Given the description of an element on the screen output the (x, y) to click on. 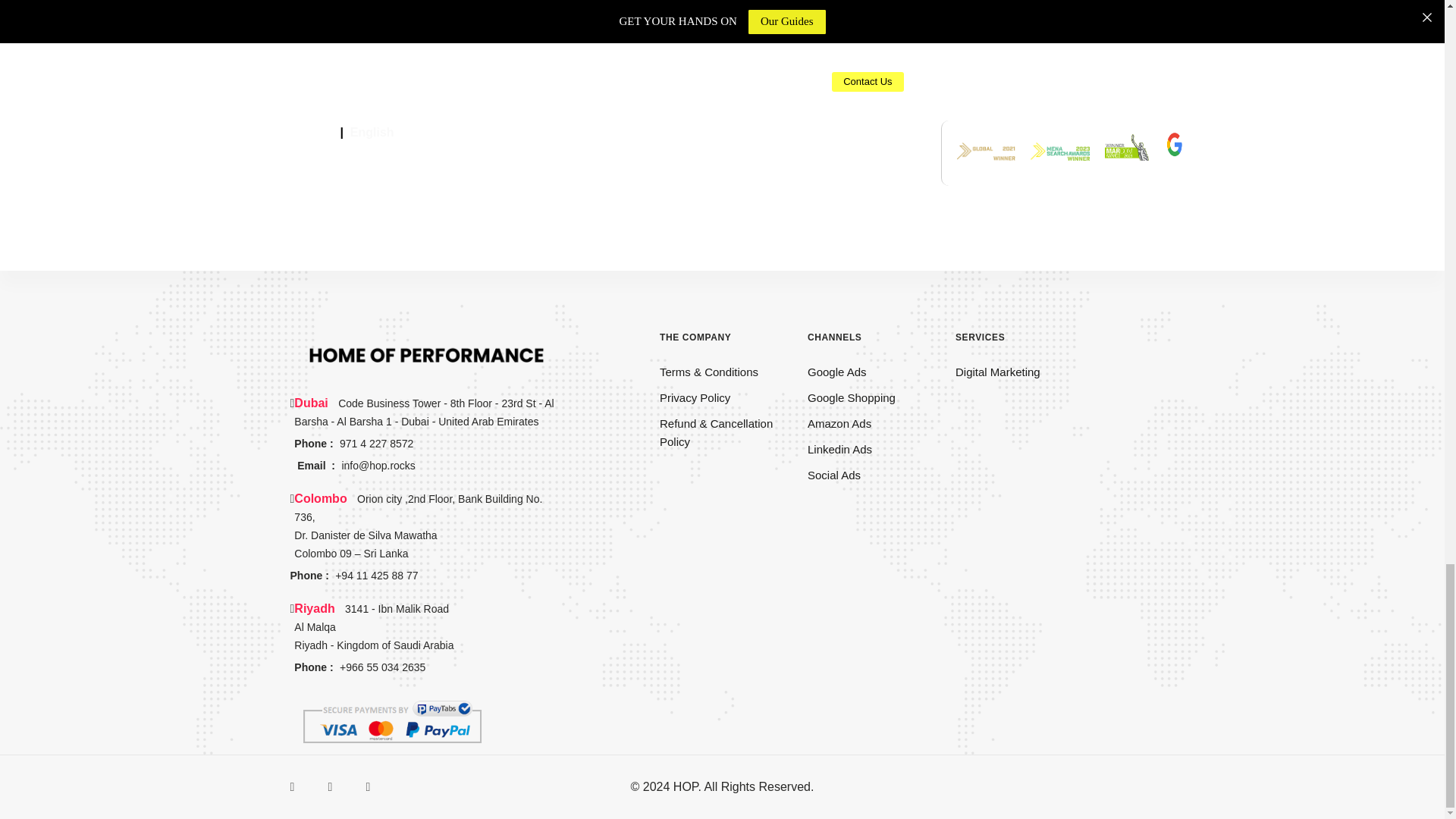
Form 0 (721, 74)
